Given the description of an element on the screen output the (x, y) to click on. 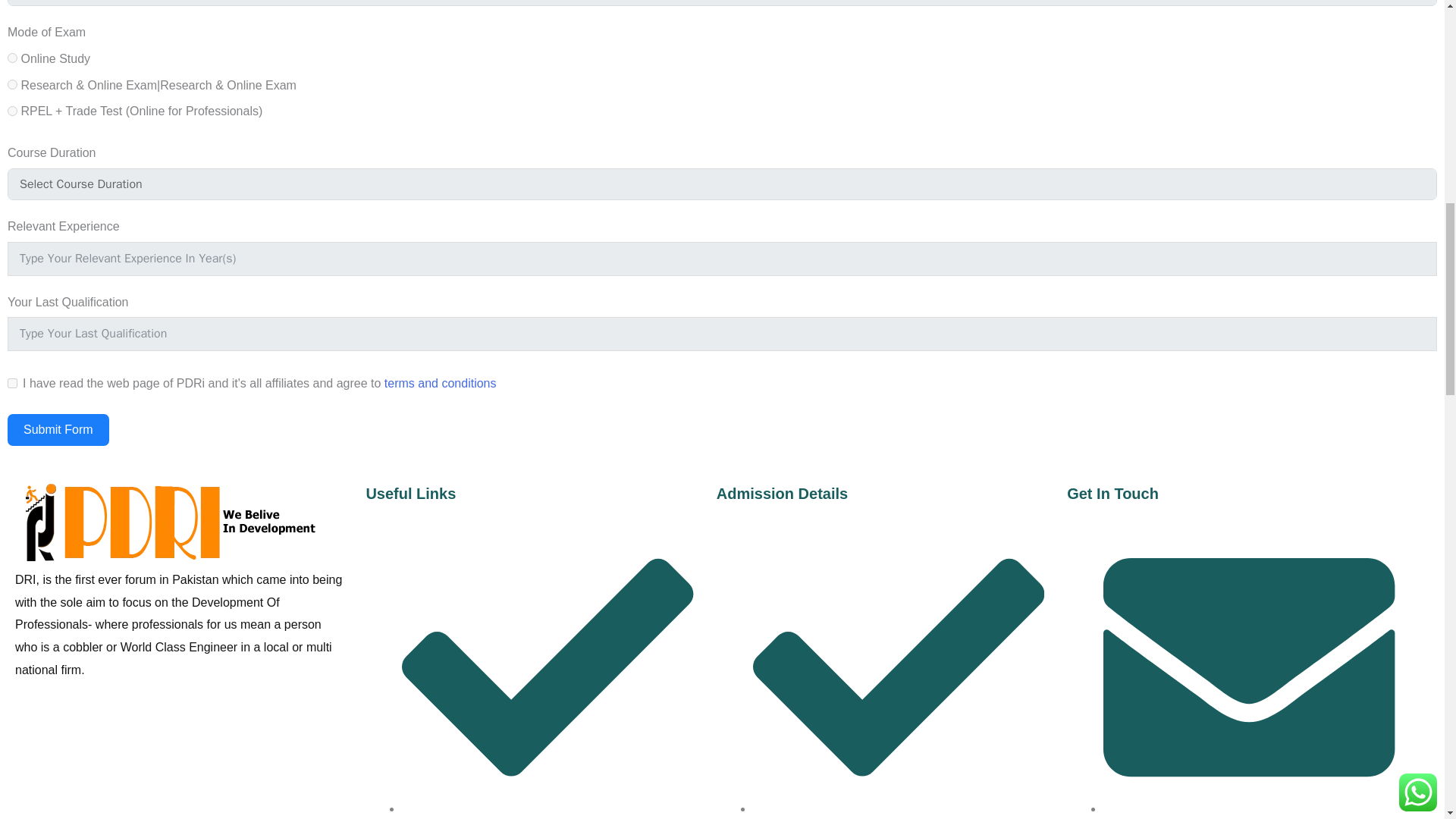
Online Study (12, 58)
on (12, 383)
